Given the description of an element on the screen output the (x, y) to click on. 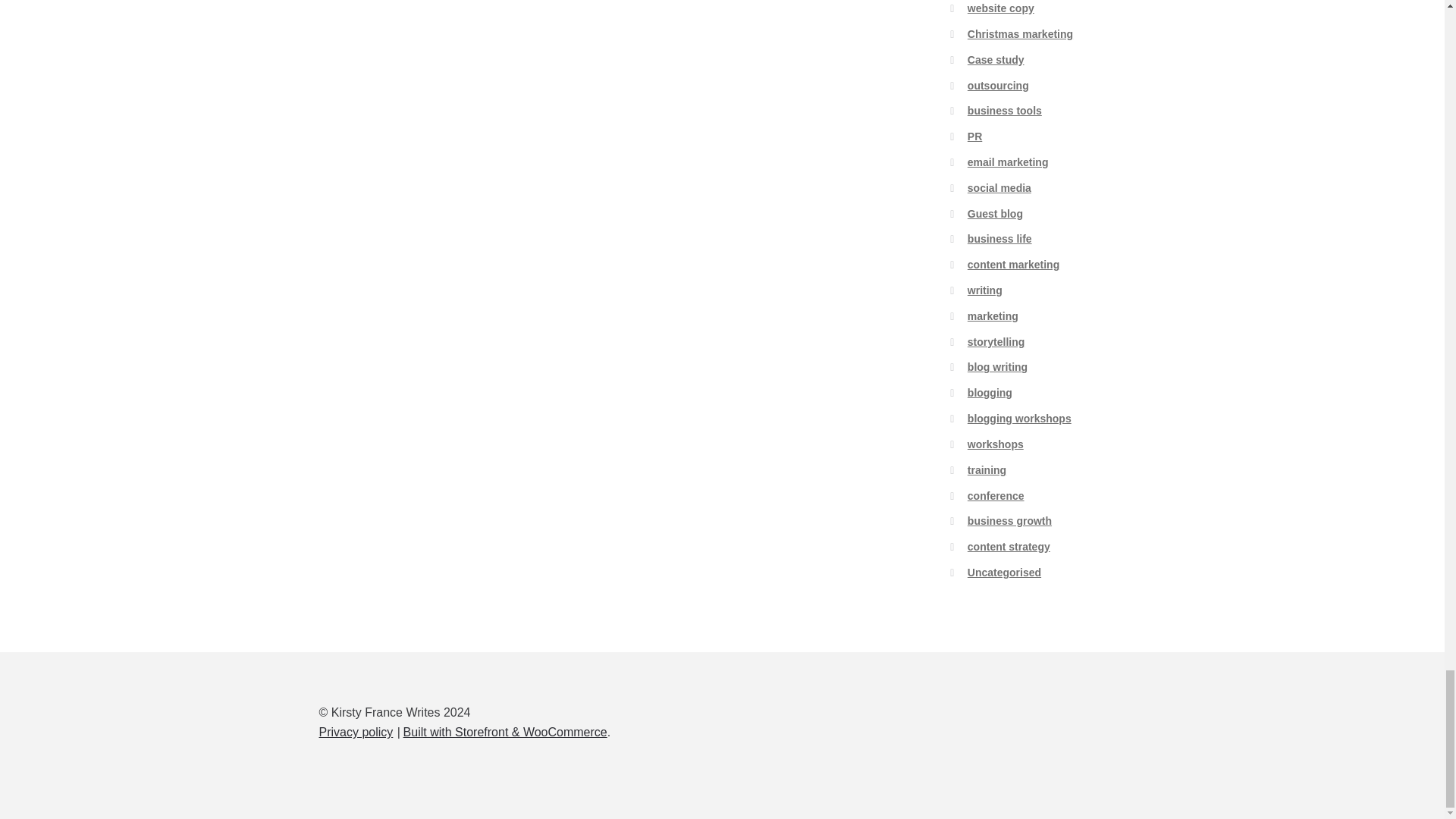
WooCommerce - The Best eCommerce Platform for WordPress (505, 731)
